Given the description of an element on the screen output the (x, y) to click on. 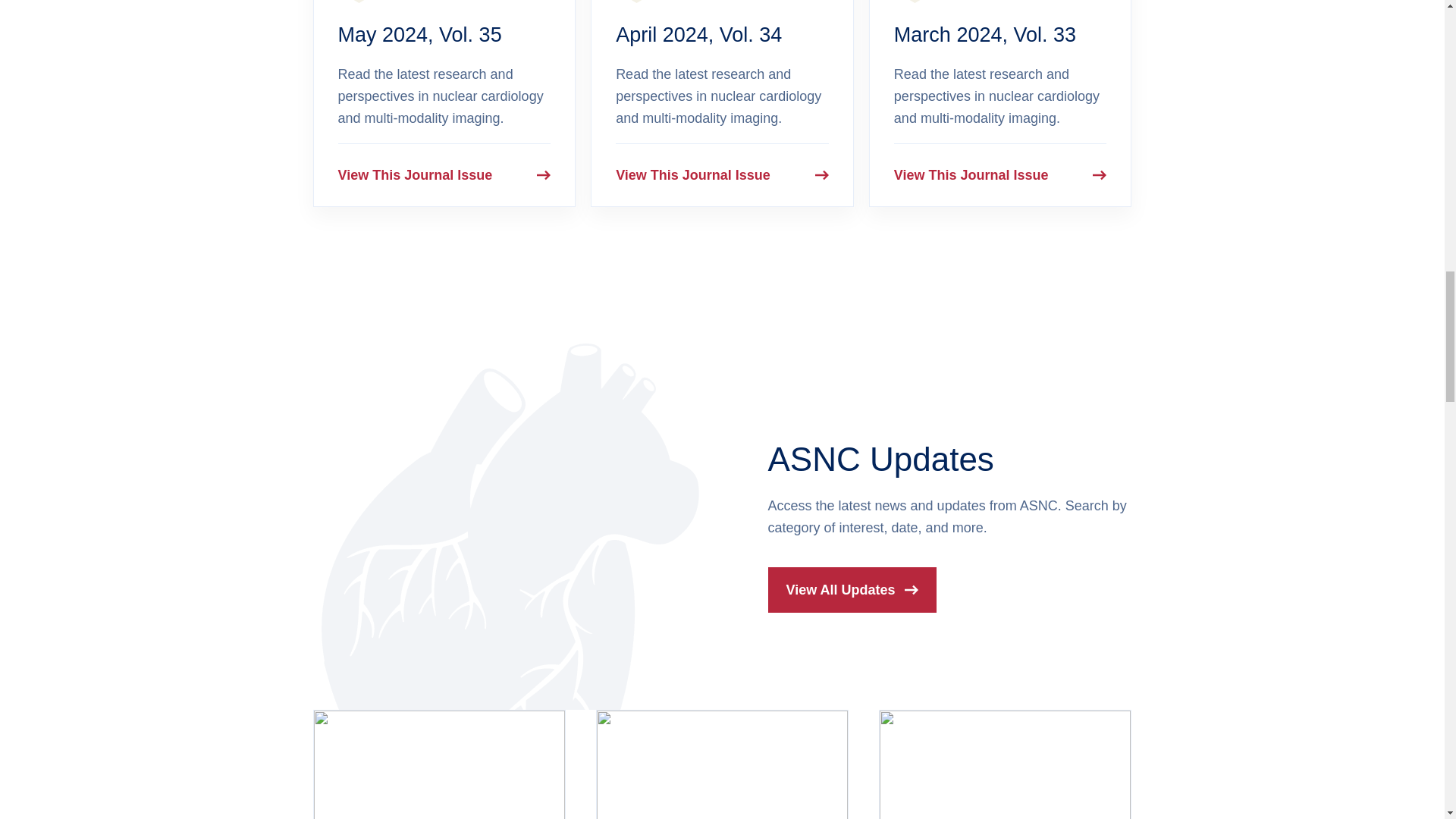
May 2024, Vol. 35 (419, 34)
March 2024, Vol. 33 (984, 34)
ASNC Updates (879, 458)
April 2024, Vol. 34 (698, 34)
